Given the description of an element on the screen output the (x, y) to click on. 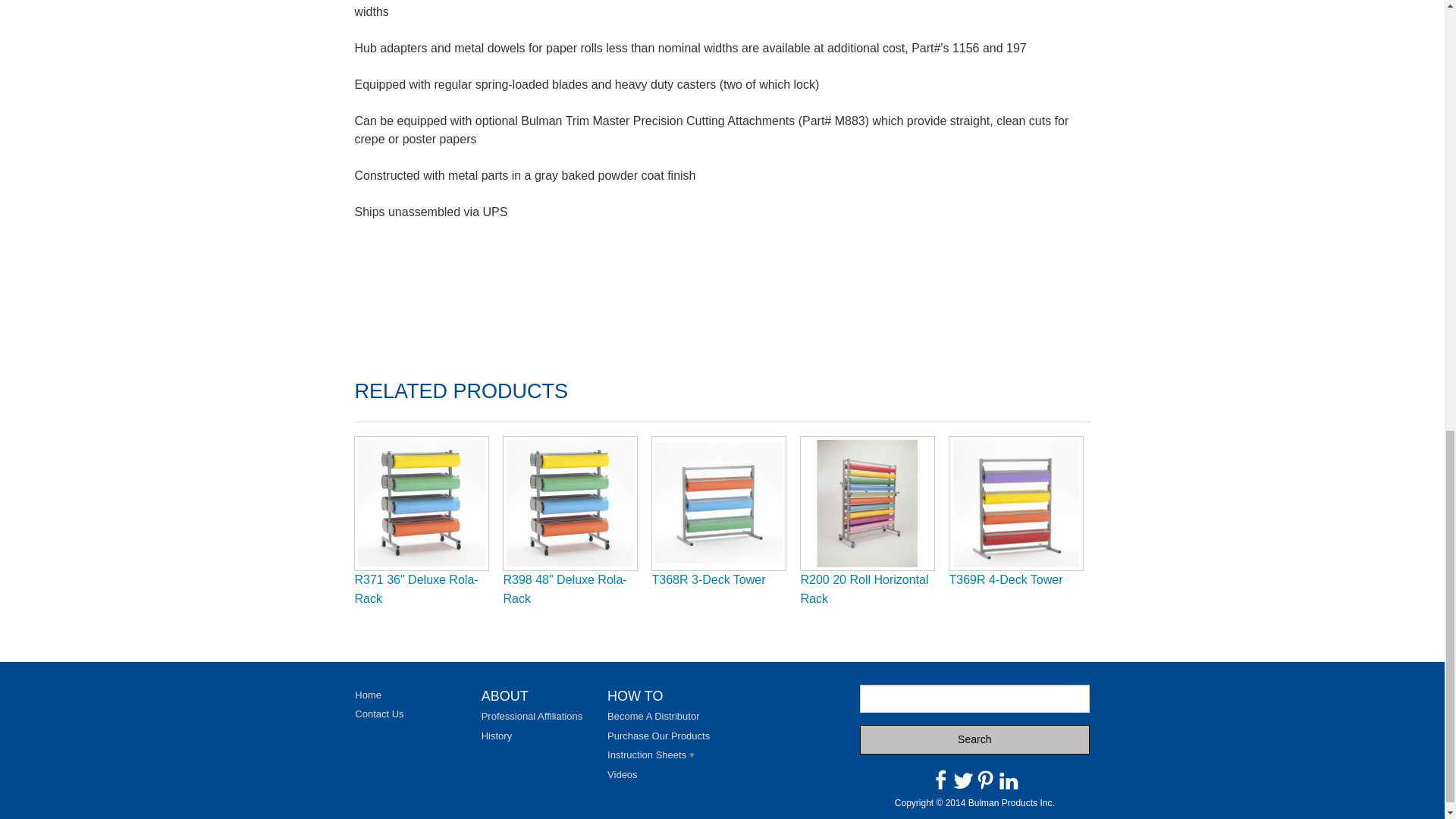
Become A Distributor (652, 715)
Home (368, 695)
Facebook (940, 779)
LinkedIn (1007, 779)
Search (974, 739)
R200 20 Roll Horizontal Rack (864, 589)
Purchase Our Products (658, 736)
Twitter (962, 779)
T368R 3-Deck Tower (708, 579)
Professional Affiliations (531, 715)
History (496, 736)
Pinterest (985, 779)
R398 48" Deluxe Rola-Rack (565, 589)
Contact Us (379, 713)
T369R 4-Deck Tower (1005, 579)
